Given the description of an element on the screen output the (x, y) to click on. 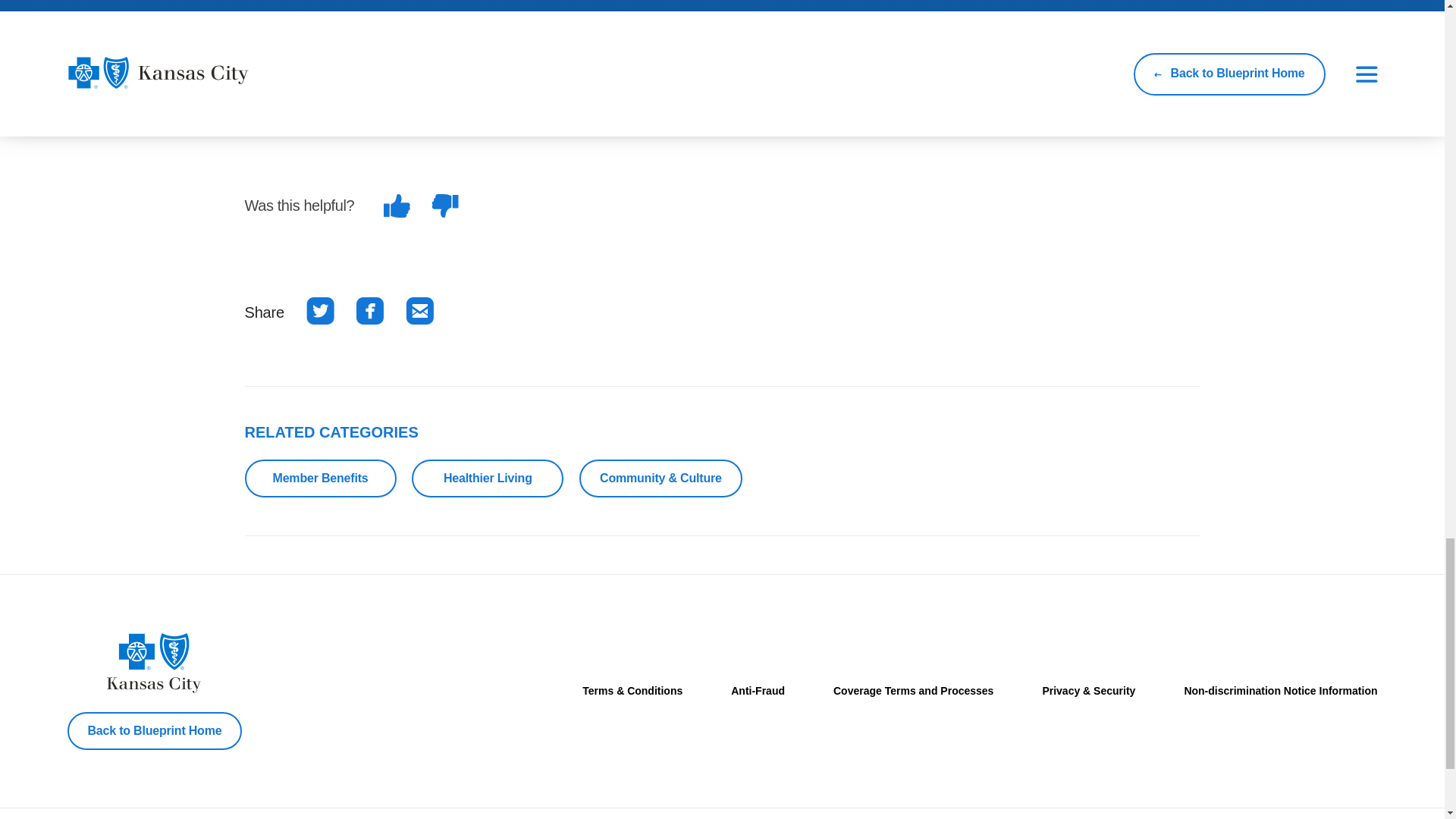
Healthier Living (487, 478)
Member Benefits (320, 478)
